Given the description of an element on the screen output the (x, y) to click on. 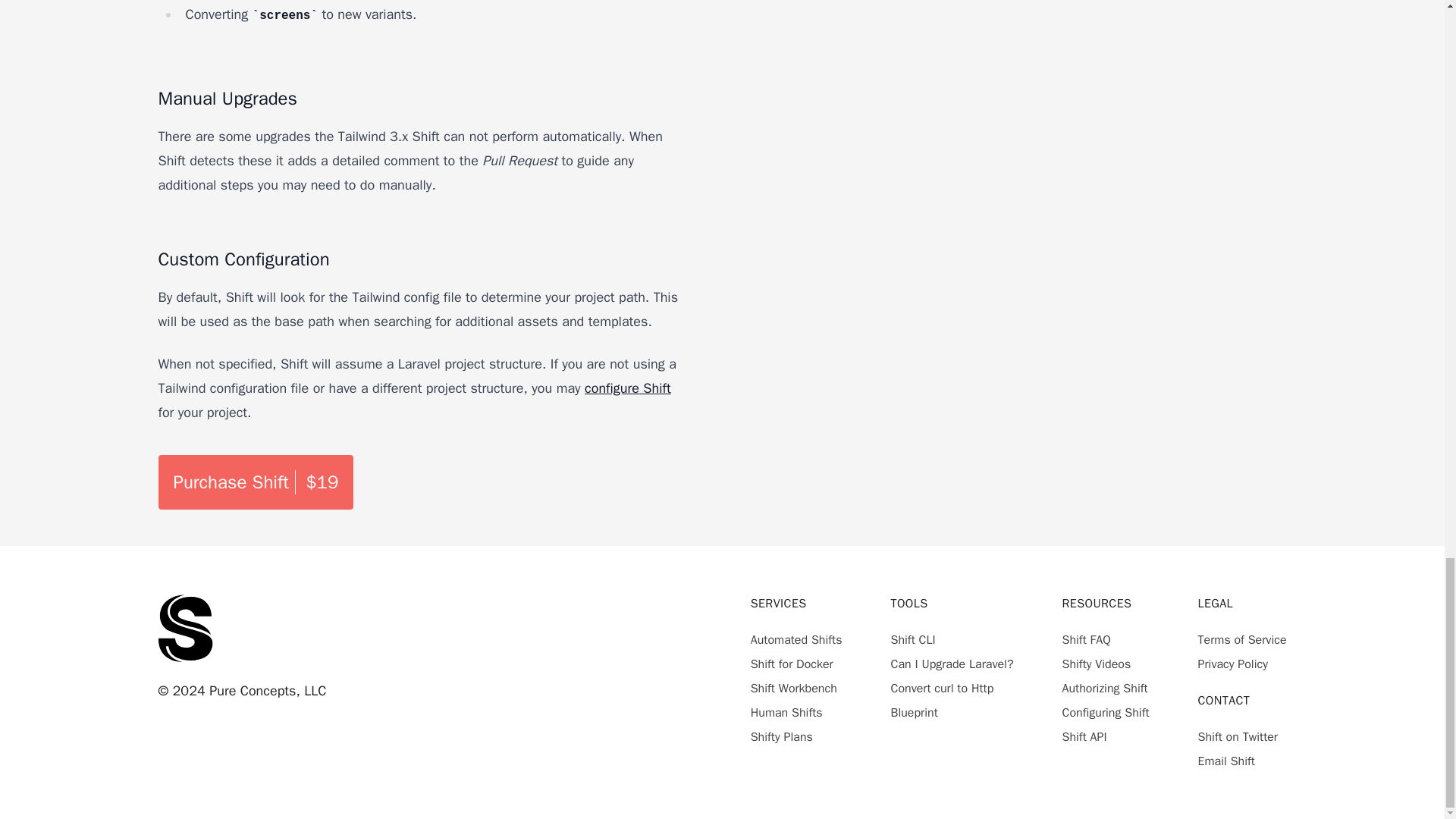
Automated Shifts (797, 639)
Shift Workbench (794, 688)
Shift CLI (911, 639)
Authorizing Shift (1104, 688)
Blueprint (913, 712)
Get humans to work (786, 712)
Informational Shift Videos (1096, 663)
Shift subscription (781, 736)
Configuring Shift (1104, 712)
Read the Terms of Service (1242, 639)
Shift API (1083, 736)
Shift FAQ (1085, 639)
Privacy Policy (1233, 663)
Authorizing a Shift build (1104, 688)
Read the Privacy Policy (1233, 663)
